Given the description of an element on the screen output the (x, y) to click on. 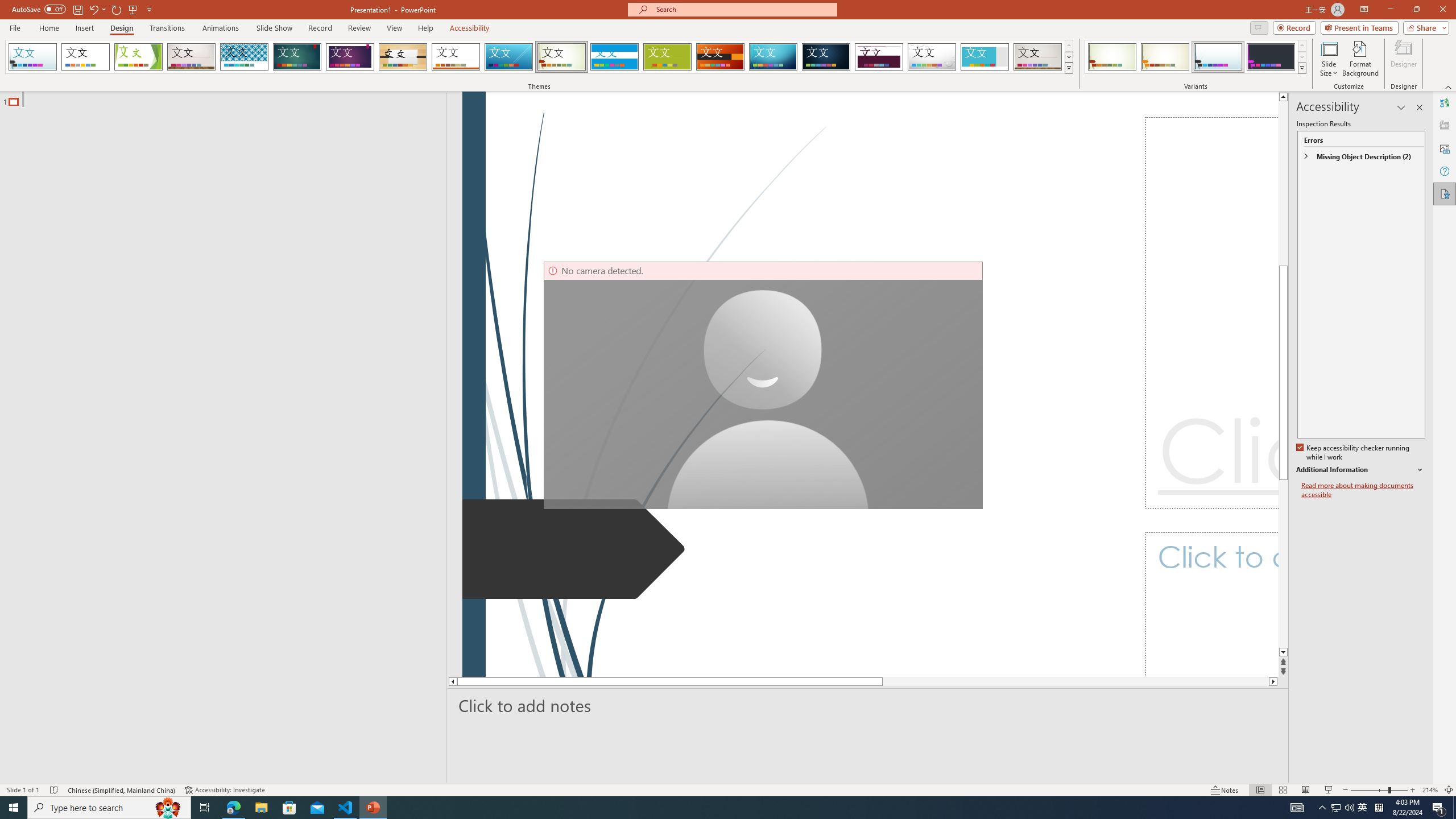
Banded (614, 56)
Integral (244, 56)
Title TextBox (1211, 313)
Wisp Variant 4 (1270, 56)
Organic (403, 56)
AutomationID: SlideThemesGallery (539, 56)
Page down (1052, 681)
